Given the description of an element on the screen output the (x, y) to click on. 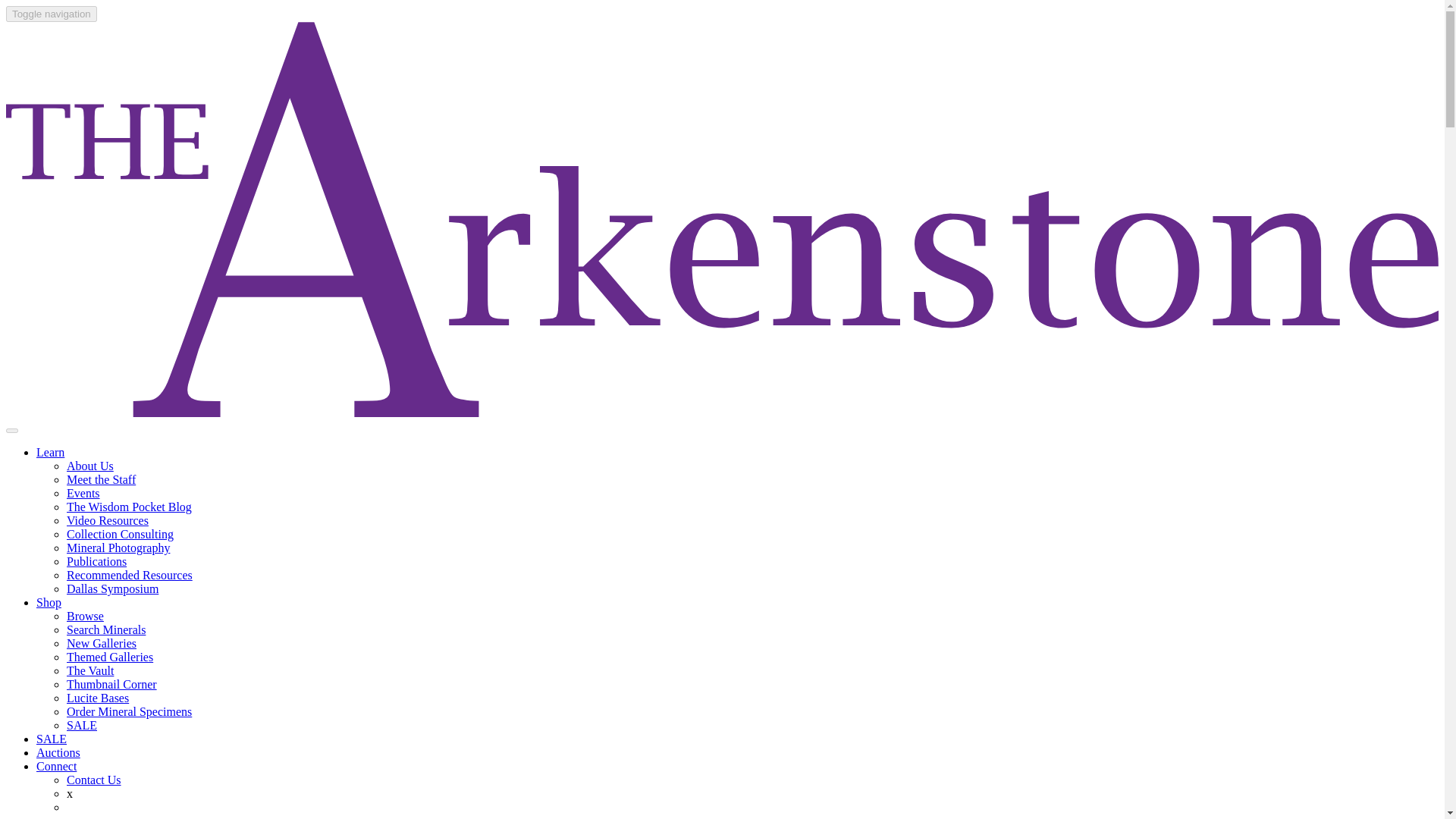
Recommended Resources (129, 574)
New Galleries (101, 643)
Video Resources (107, 520)
About Us (89, 465)
The Vault (89, 670)
Collection Consulting (119, 533)
Toggle navigation (51, 13)
Search Minerals (105, 629)
Connect (56, 766)
Shop (48, 602)
Publications (96, 561)
SALE (51, 738)
The Wisdom Pocket Blog (129, 506)
SALE (81, 725)
Meet the Staff (100, 479)
